Given the description of an element on the screen output the (x, y) to click on. 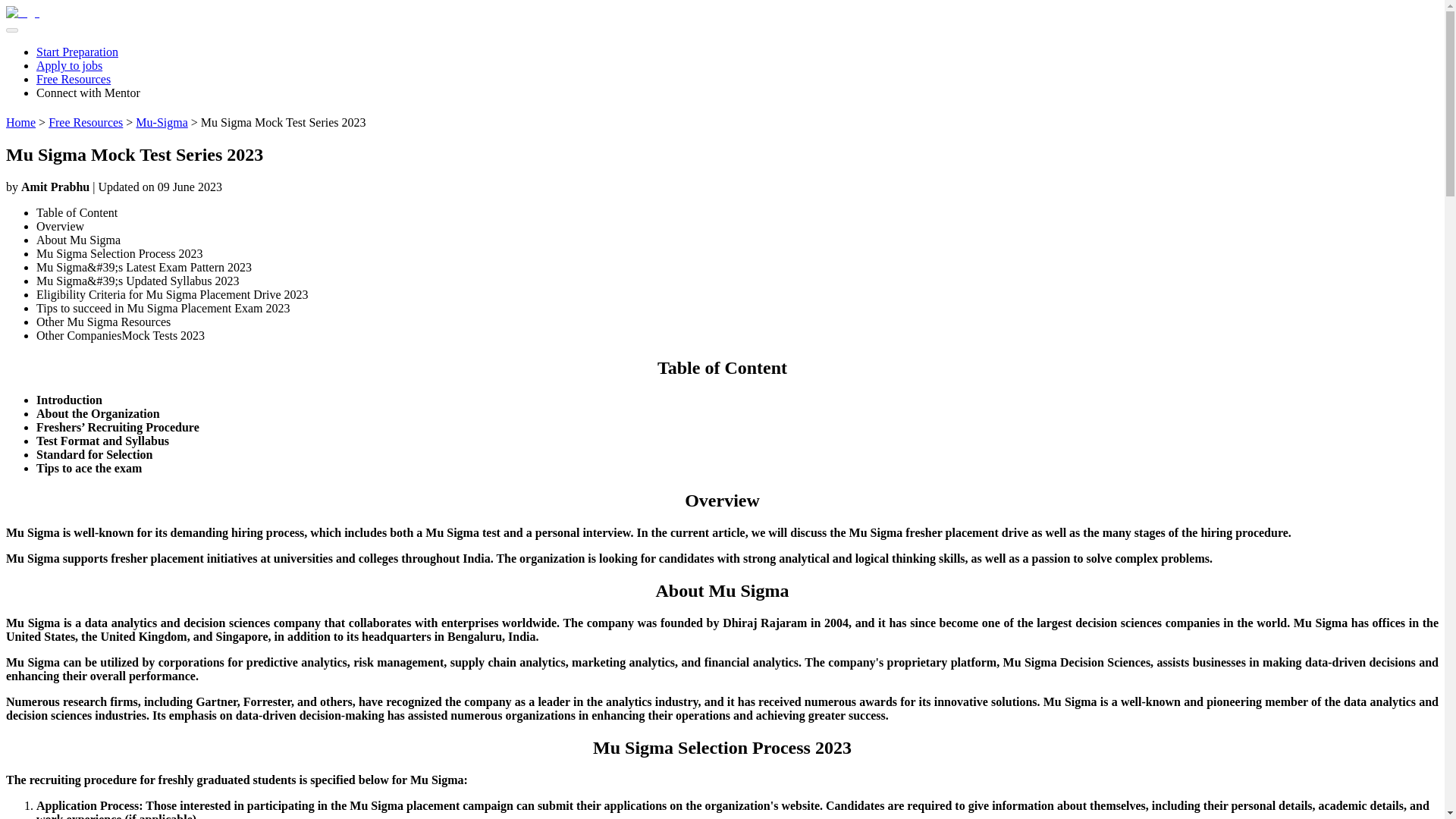
Home (19, 122)
Start Preparation (76, 51)
Apply to jobs (68, 65)
Mu-Sigma (161, 122)
Free Resources (85, 122)
Free Resources (73, 78)
